Given the description of an element on the screen output the (x, y) to click on. 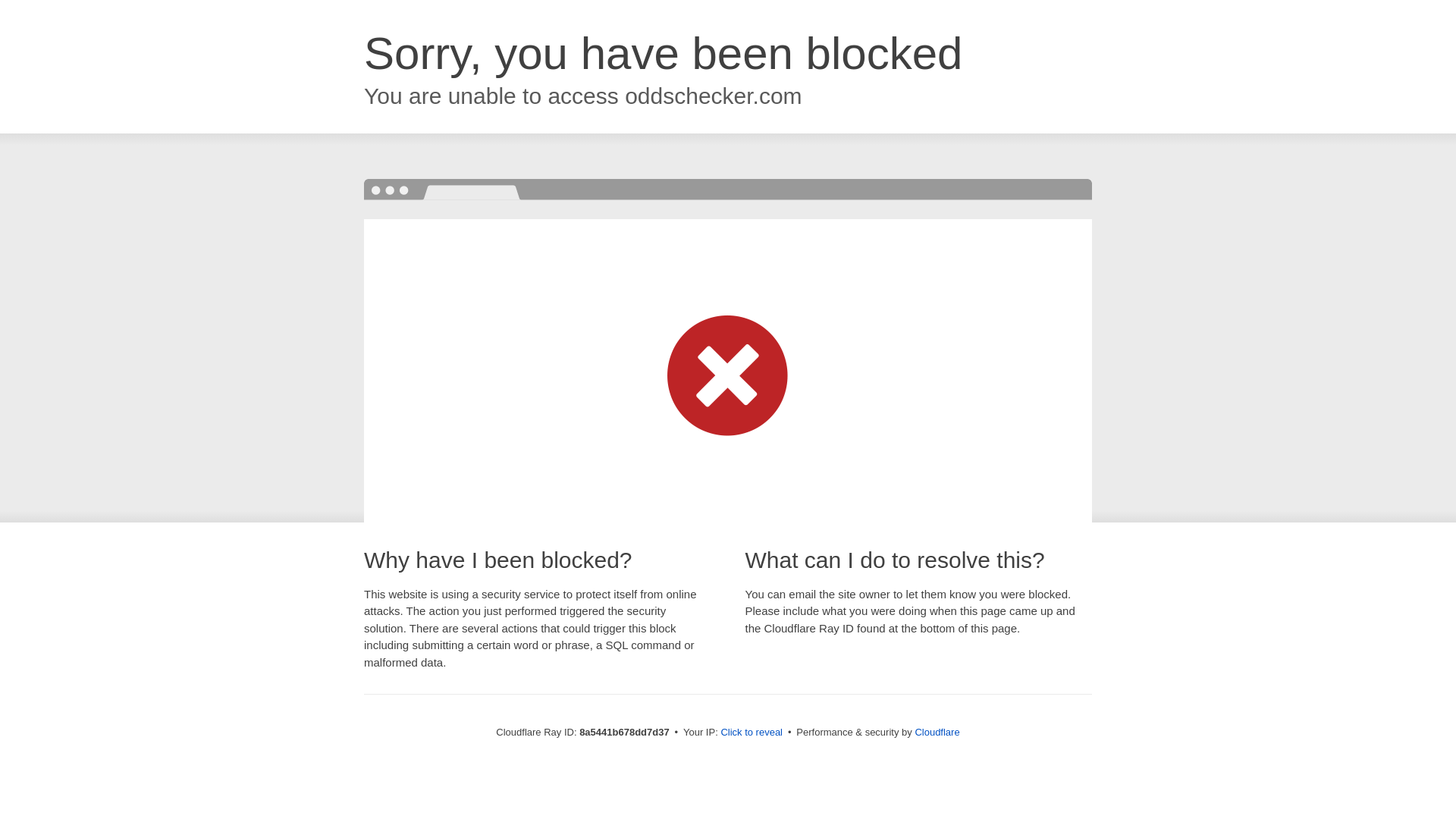
Click to reveal (751, 732)
Cloudflare (936, 731)
